Given the description of an element on the screen output the (x, y) to click on. 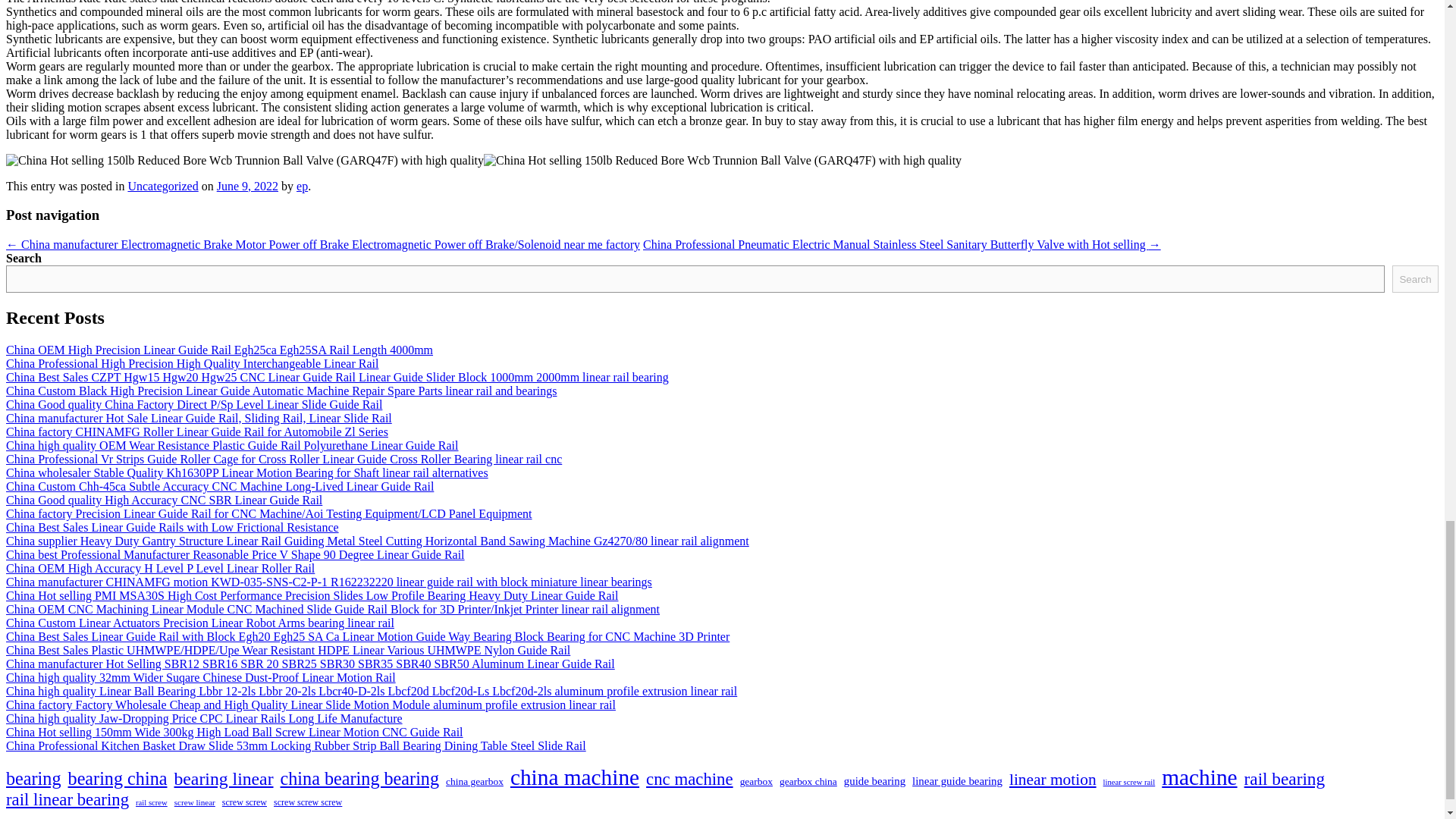
China Good quality High Accuracy CNC SBR Linear Guide Rail (163, 499)
China OEM High Accuracy H Level P Level Linear Roller Rail (159, 567)
Uncategorized (163, 185)
